Given the description of an element on the screen output the (x, y) to click on. 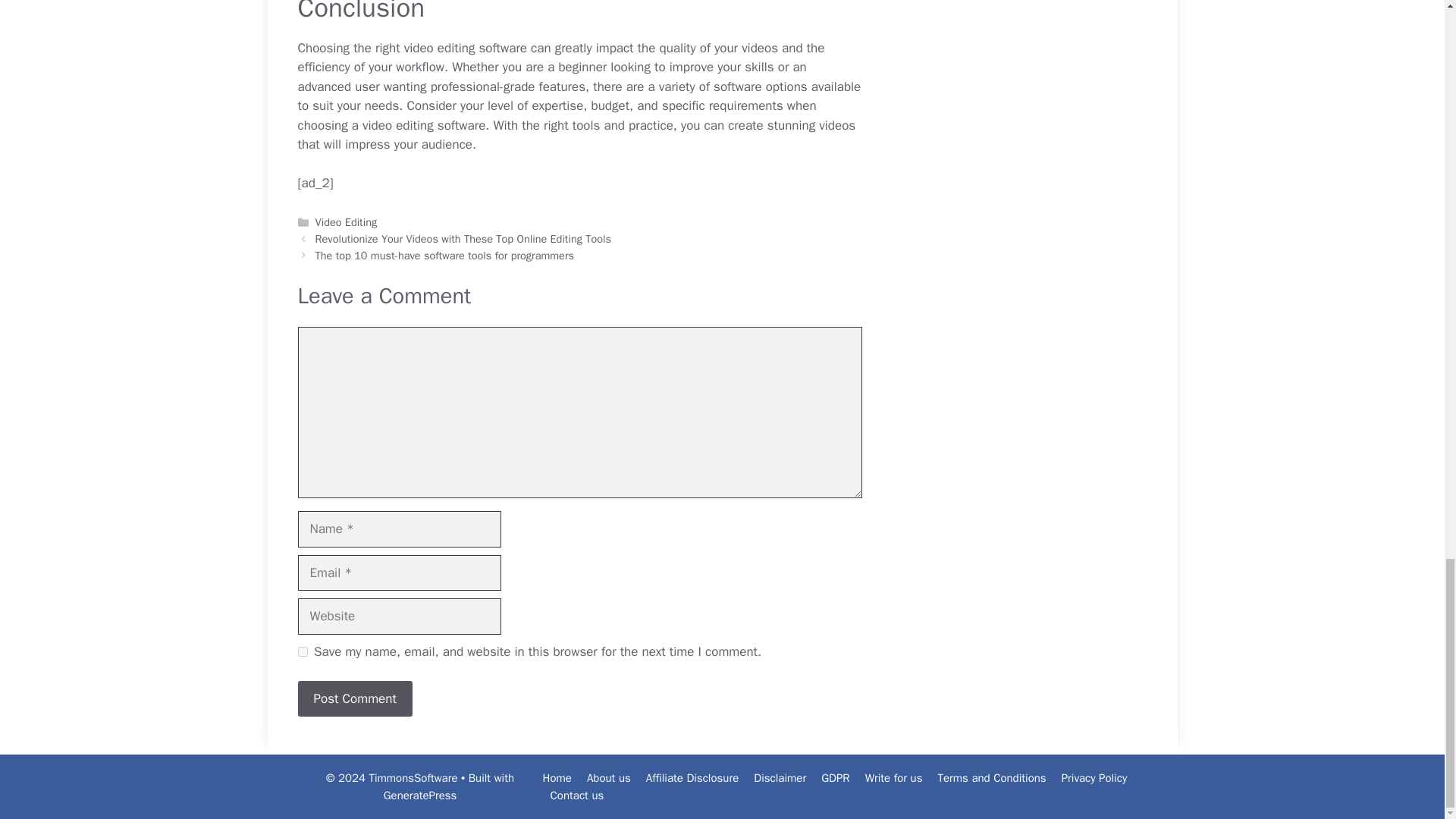
GDPR (834, 777)
Affiliate Disclosure (692, 777)
Contact us (577, 795)
Home (557, 777)
Terms and Conditions (991, 777)
Write for us (893, 777)
Post Comment (354, 698)
Post Comment (354, 698)
About us (608, 777)
The top 10 must-have software tools for programmers (444, 255)
Video Editing (346, 222)
GeneratePress (420, 795)
Disclaimer (780, 777)
yes (302, 651)
